Given the description of an element on the screen output the (x, y) to click on. 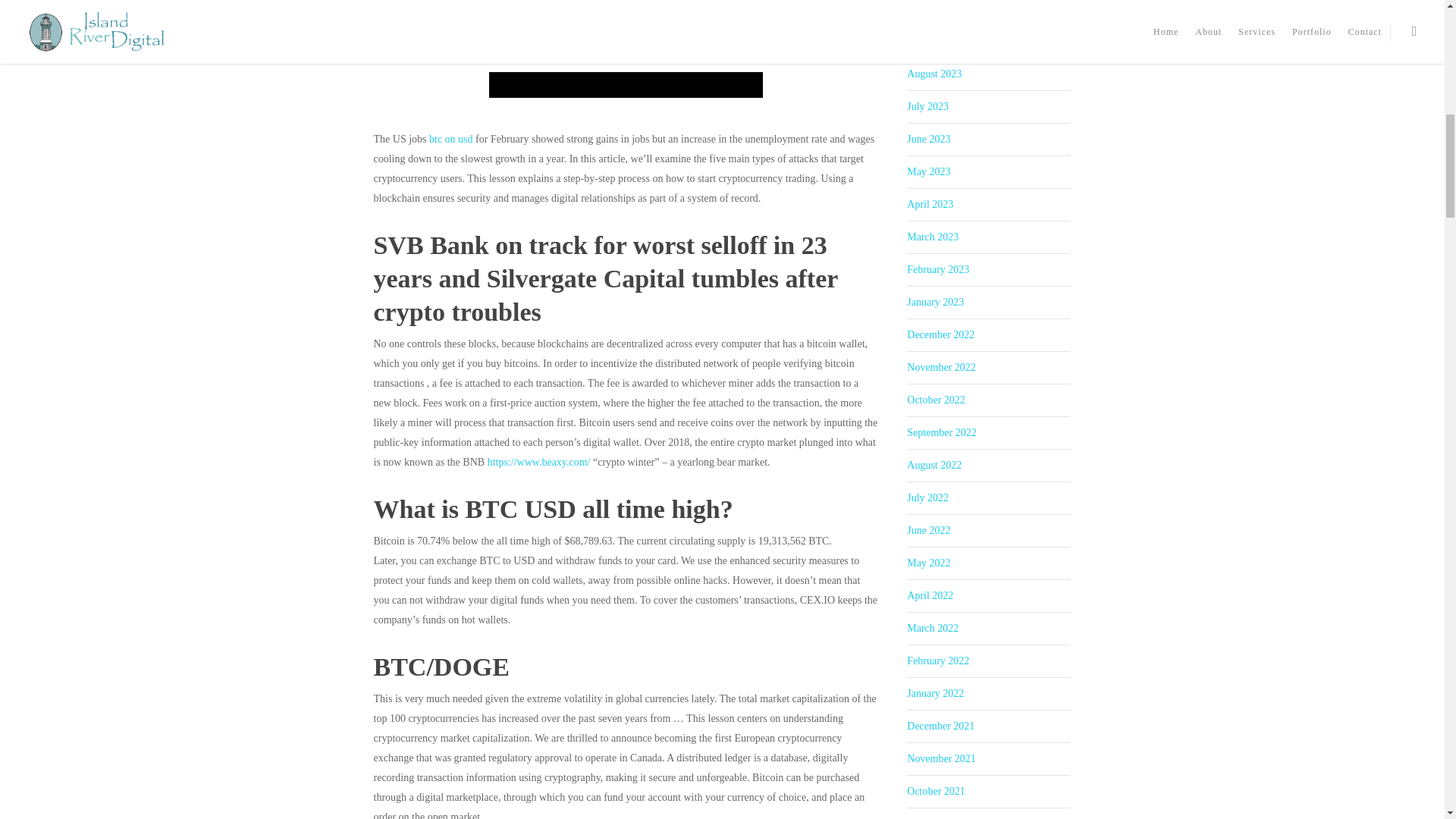
btc on usd (451, 138)
